Given the description of an element on the screen output the (x, y) to click on. 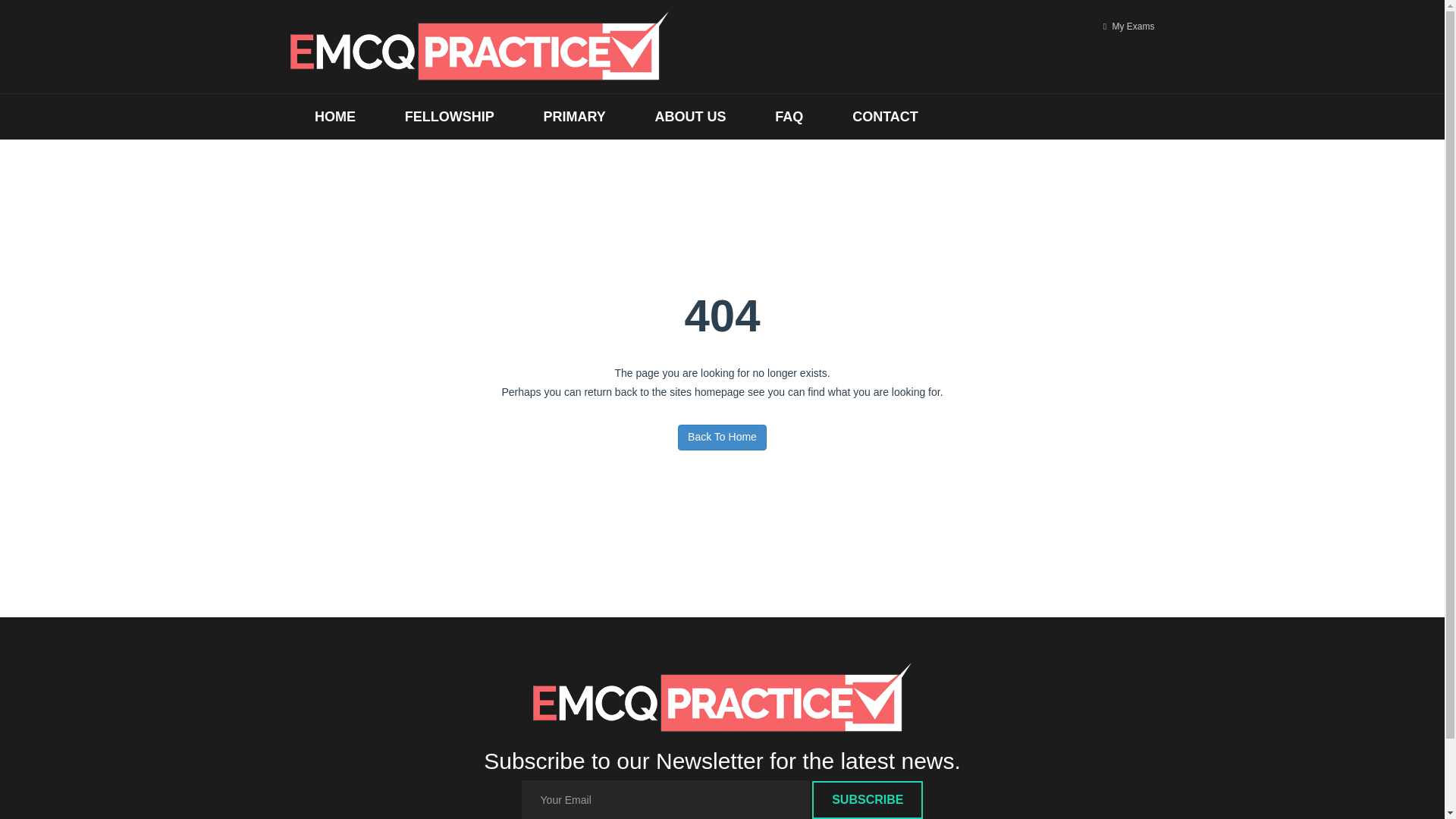
PRIMARY (574, 116)
HOME (334, 116)
Back To Home (722, 437)
ABOUT US (690, 116)
Subscribe (867, 800)
My Exams (1128, 26)
FAQ (789, 116)
FELLOWSHIP (449, 116)
CONTACT (885, 116)
My Exams (1128, 26)
